Given the description of an element on the screen output the (x, y) to click on. 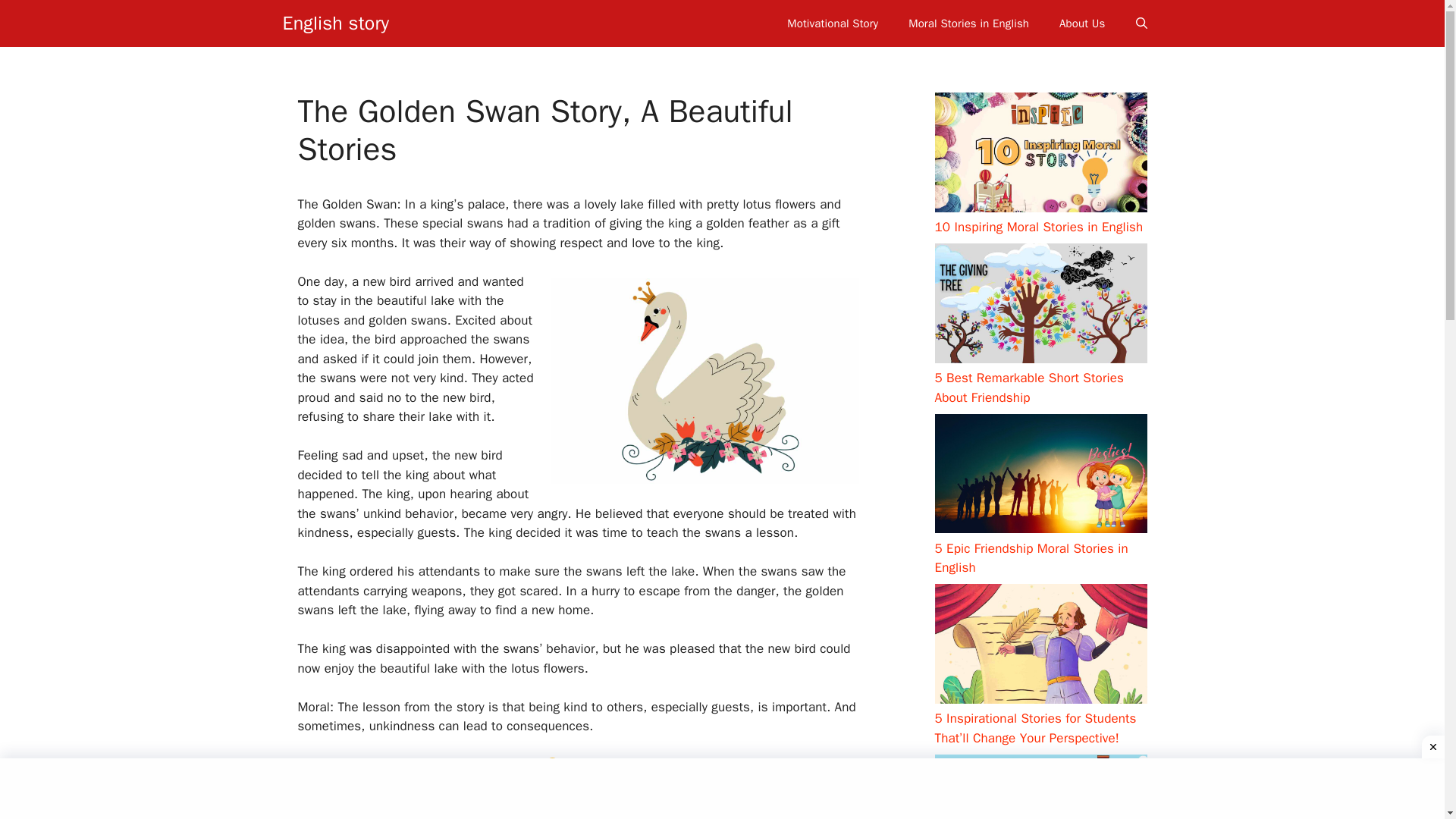
10 Inspiring Moral Stories in English (1038, 227)
Moral Stories in English (968, 22)
English story (335, 23)
Motivational Story (832, 22)
About Us (1081, 22)
5 Epic Friendship Moral Stories in English (1030, 557)
5 Best Remarkable Short Stories About Friendship (1028, 387)
